Given the description of an element on the screen output the (x, y) to click on. 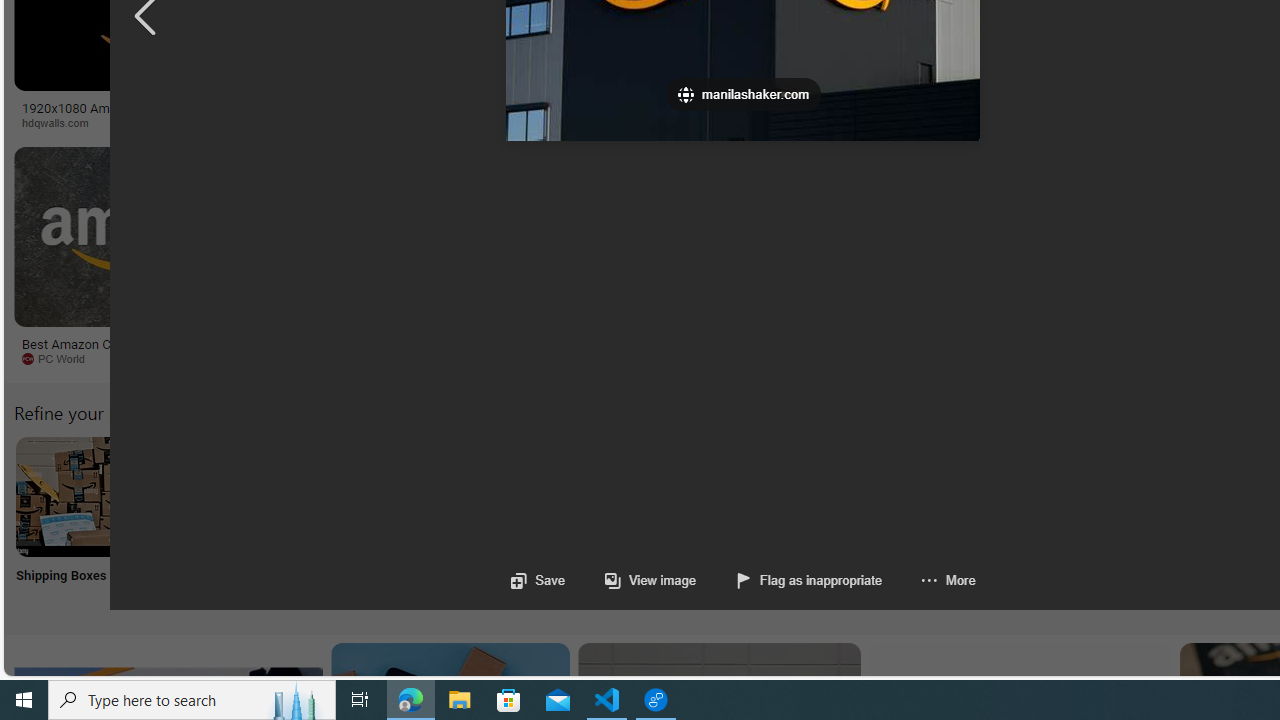
aiophotoz.com (611, 358)
More (948, 580)
Marketplace (807, 123)
Save (537, 580)
Flag as inappropriate (809, 580)
Amazon Log into My Account (472, 496)
Shipping Boxes (74, 521)
Save (537, 580)
